Given the description of an element on the screen output the (x, y) to click on. 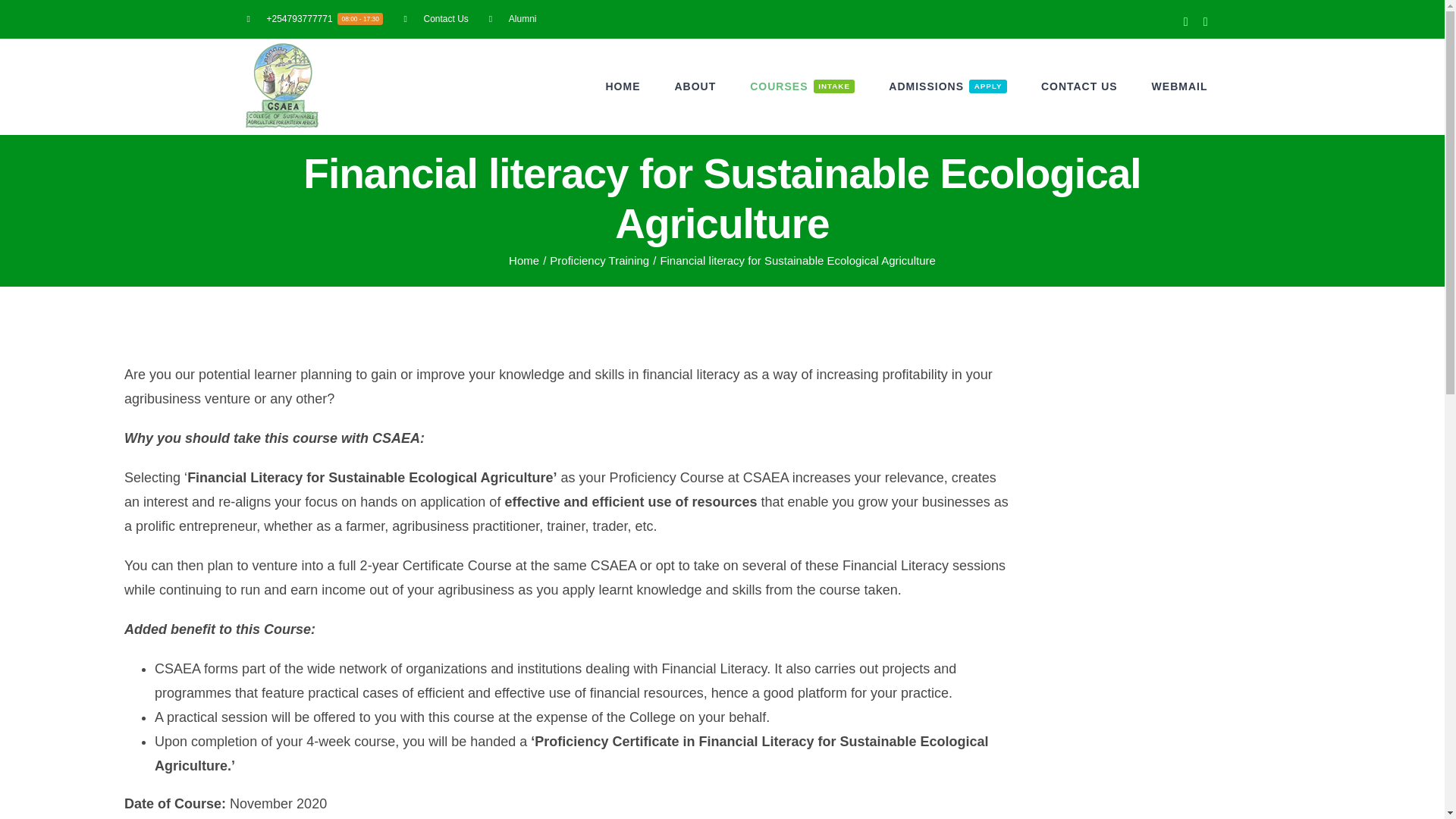
Home (523, 259)
Proficiency Training (599, 259)
Alumni (513, 18)
Contact Us (947, 86)
